Given the description of an element on the screen output the (x, y) to click on. 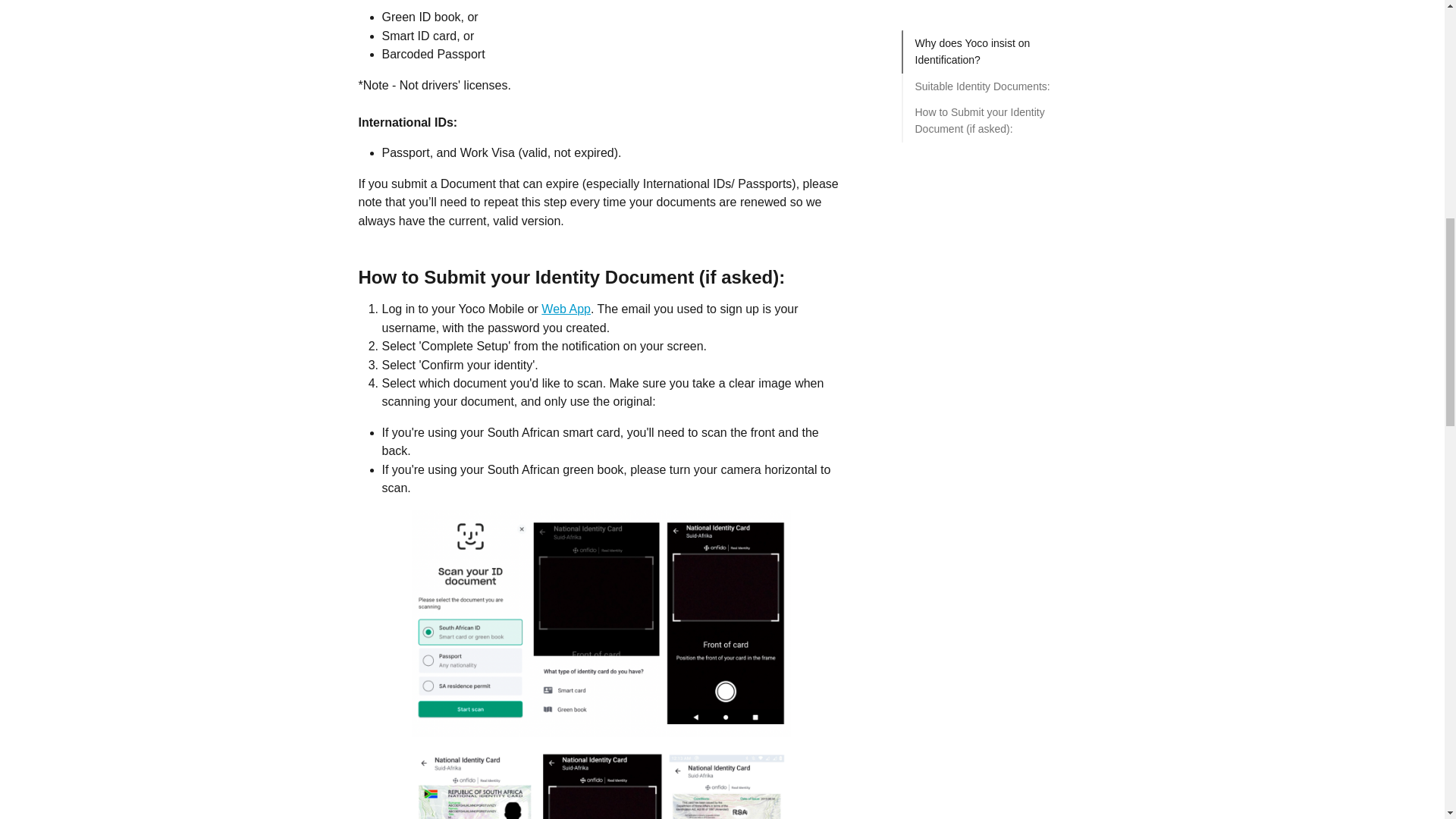
Web App (566, 308)
